Given the description of an element on the screen output the (x, y) to click on. 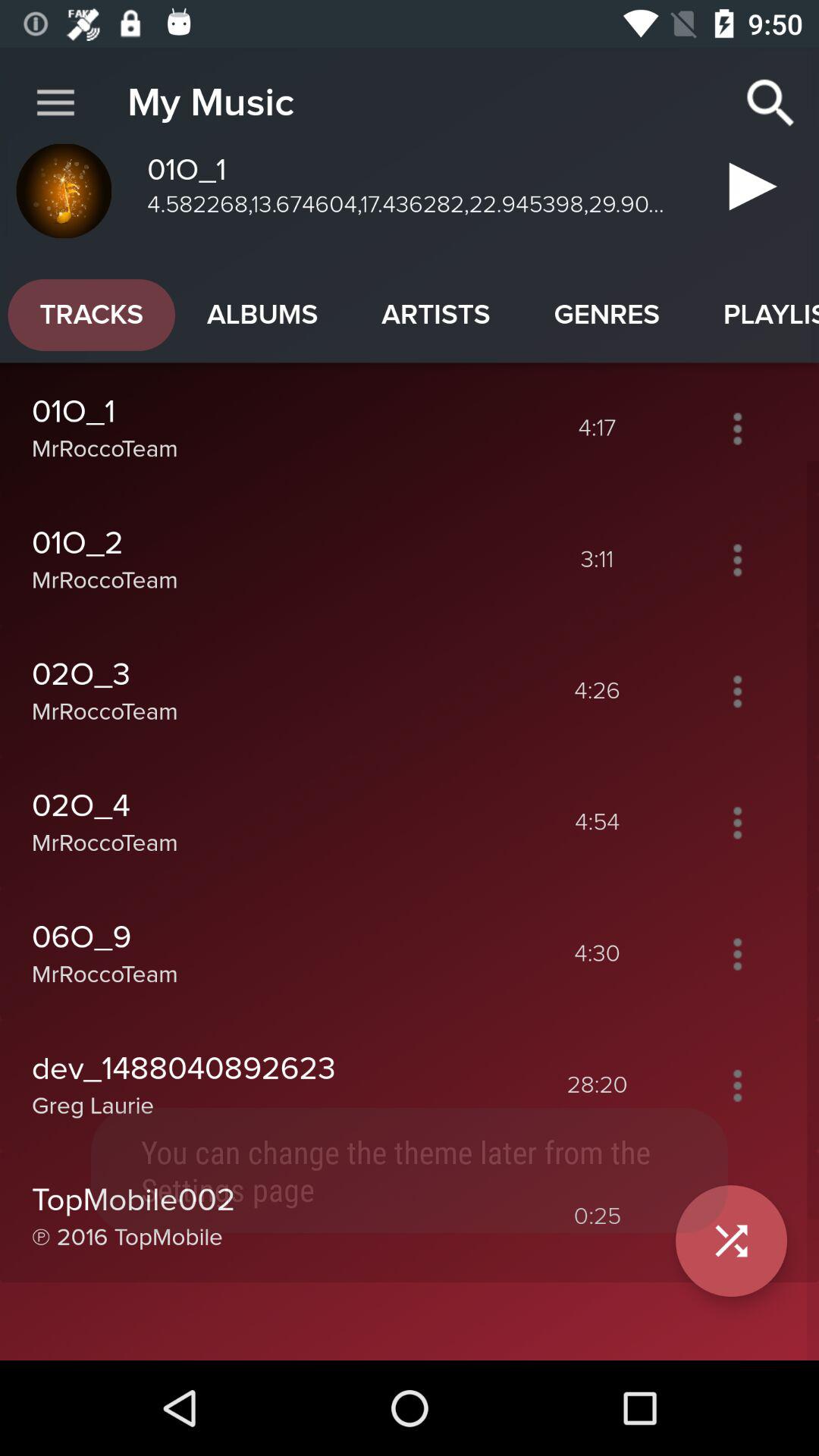
open list item context menu (737, 953)
